Given the description of an element on the screen output the (x, y) to click on. 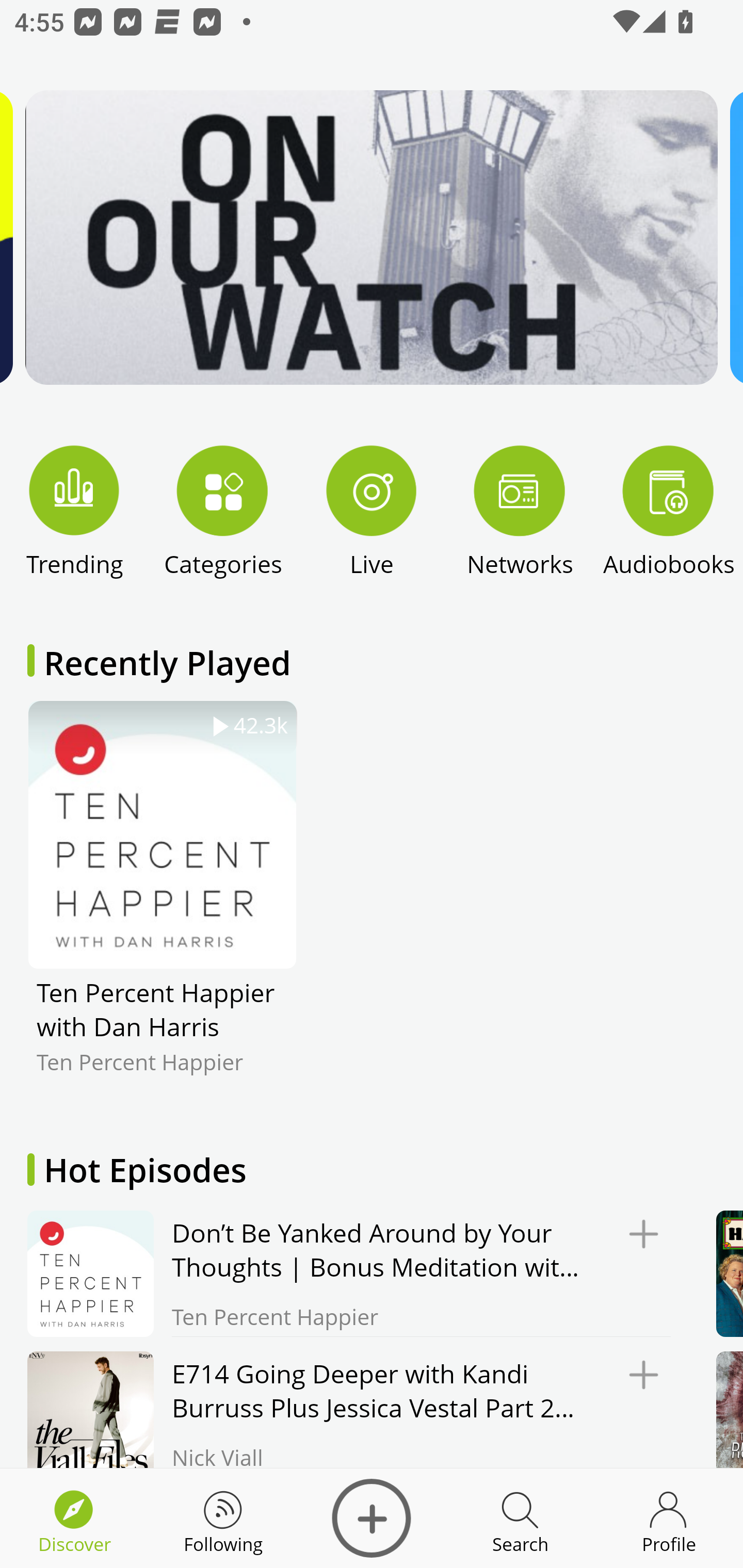
Discover Following (222, 1518)
Discover (371, 1518)
Discover Search (519, 1518)
Discover Profile (668, 1518)
